Given the description of an element on the screen output the (x, y) to click on. 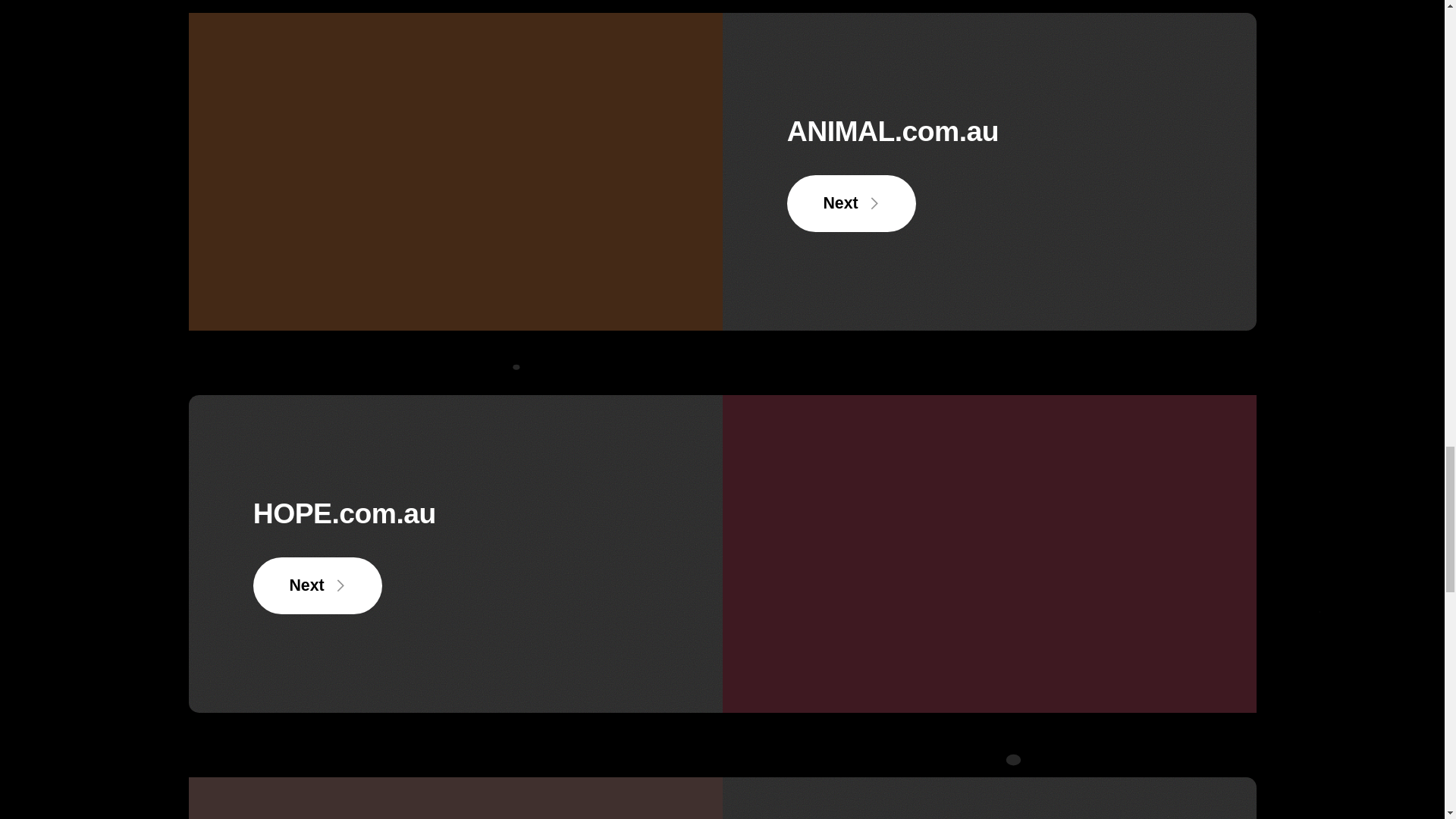
Next (852, 203)
Next (317, 585)
